Given the description of an element on the screen output the (x, y) to click on. 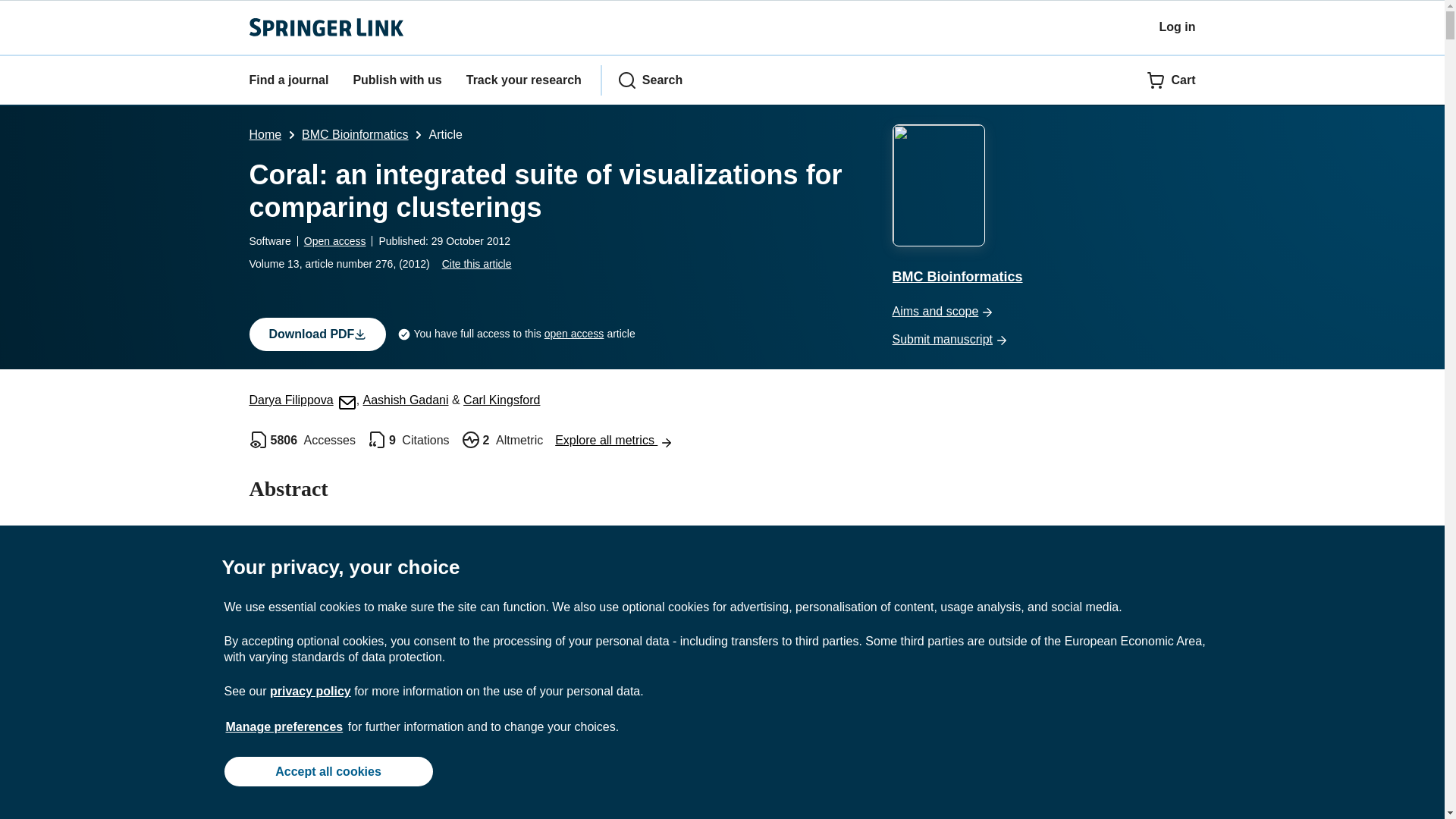
Log in (1177, 26)
Cite this article (477, 263)
Download PDF (316, 334)
privacy policy (309, 690)
open access (574, 333)
Submit manuscript (1043, 340)
Search (649, 79)
Find a journal (288, 79)
Home (264, 133)
Manage preferences (284, 726)
